Given the description of an element on the screen output the (x, y) to click on. 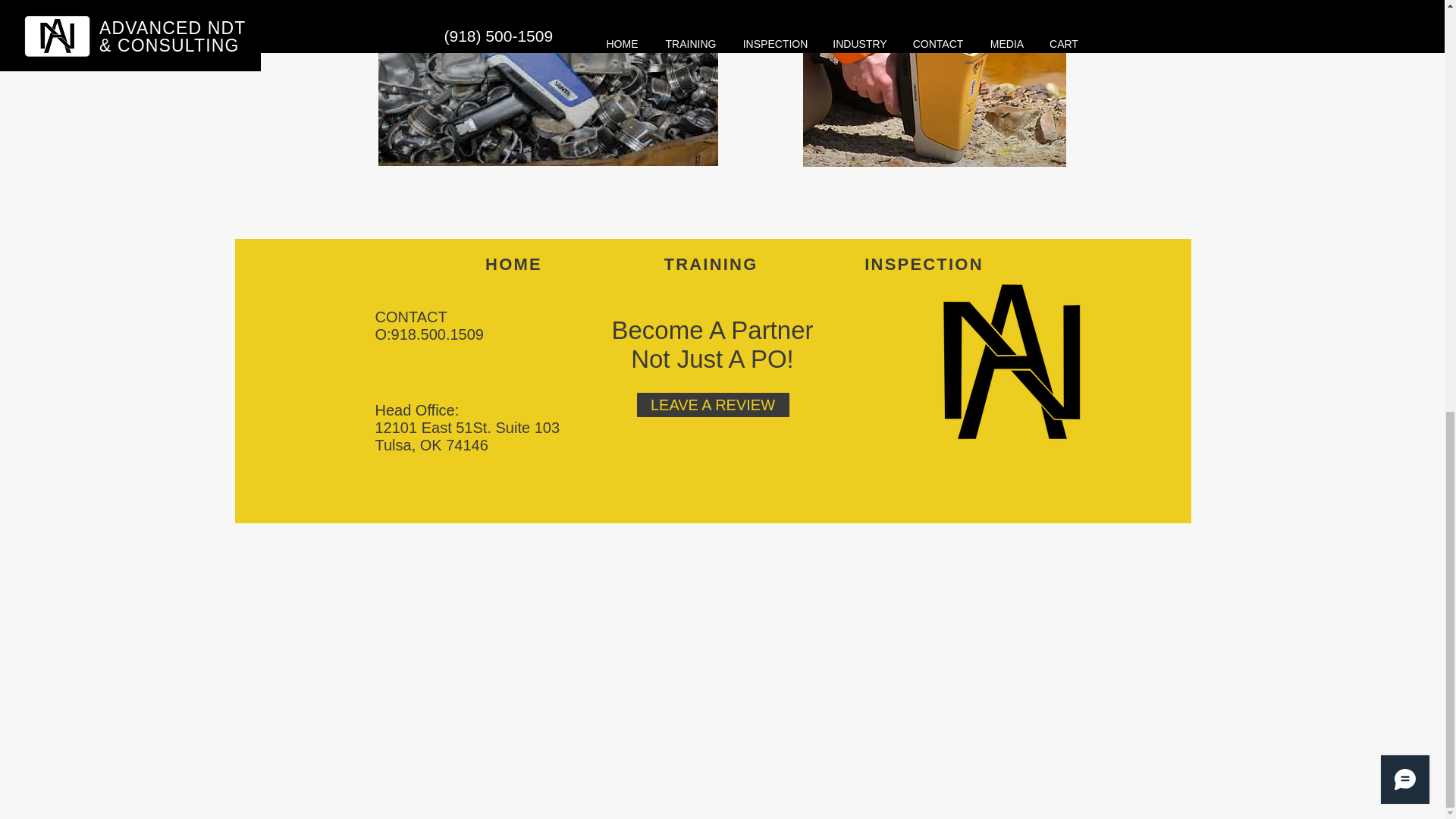
TRAINING (712, 264)
LEAVE A REVIEW (713, 404)
INSPECTION (925, 264)
HOME (515, 264)
